Given the description of an element on the screen output the (x, y) to click on. 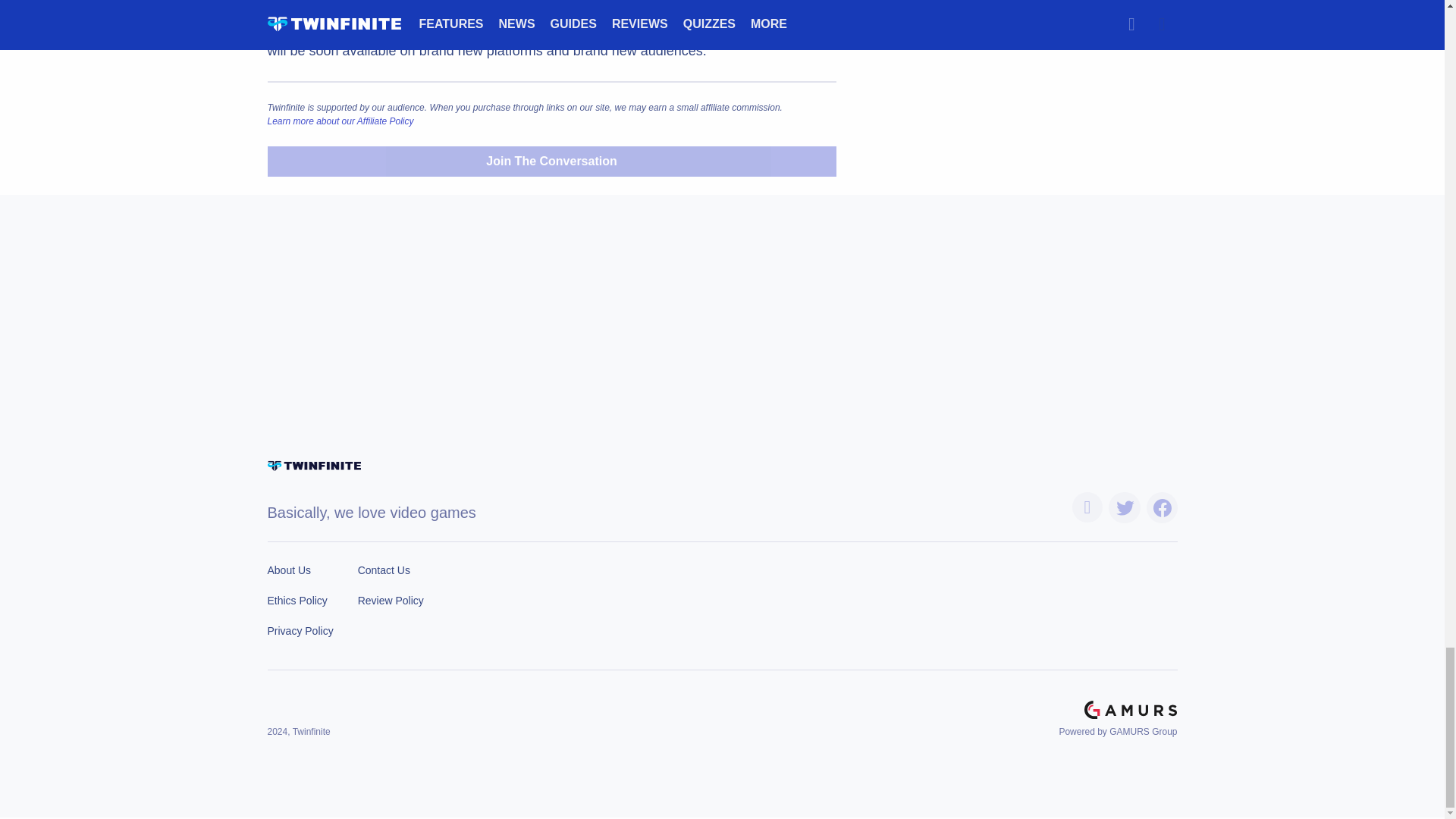
Join The Conversation (550, 161)
